Given the description of an element on the screen output the (x, y) to click on. 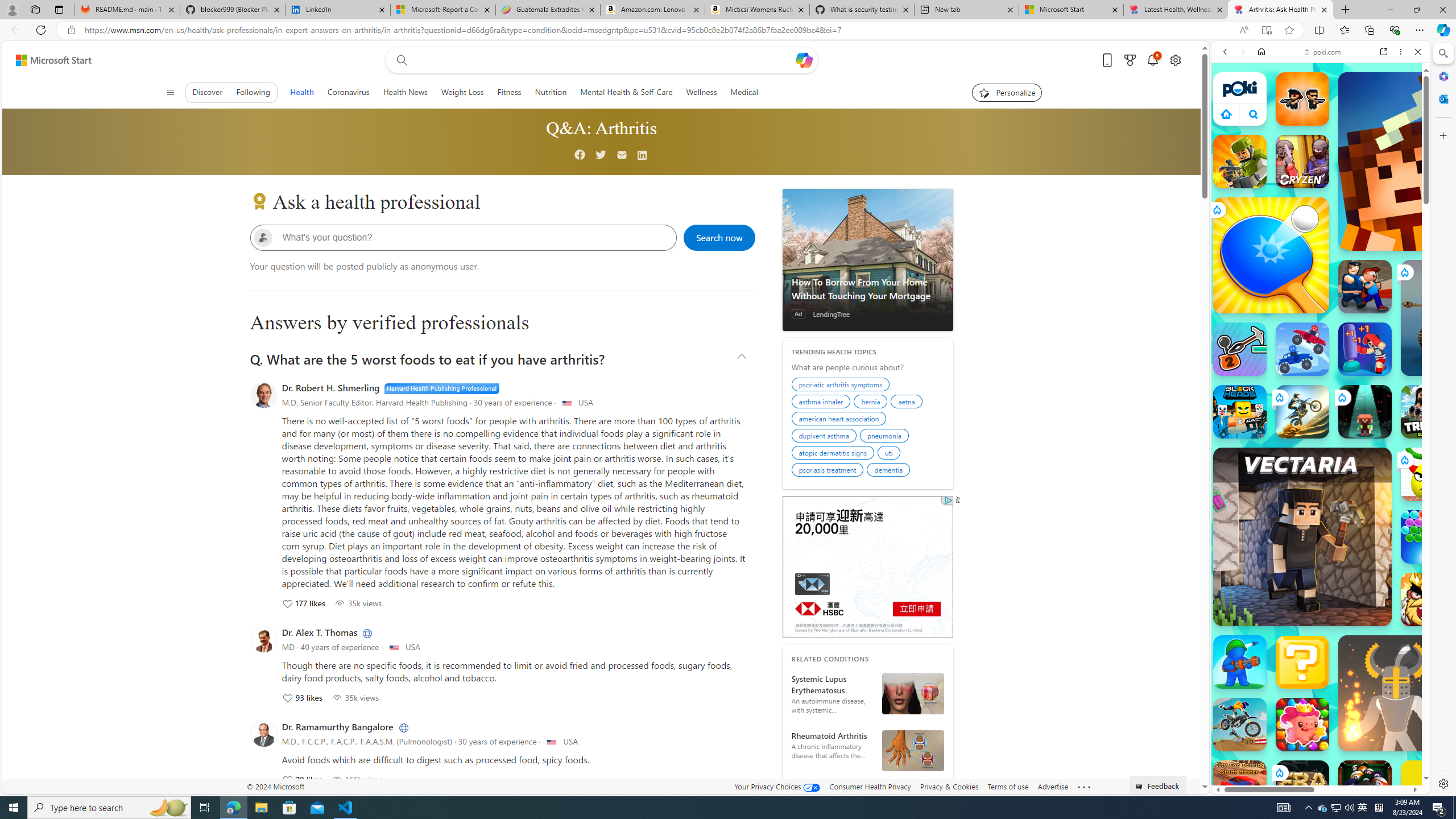
Health News (404, 92)
Hills of Steel Hills of Steel poki.com (1264, 548)
Io Games (1320, 350)
Mail (622, 155)
Shooting Games (1320, 295)
Wellness (700, 92)
Class: oneFooter_seeMore-DS-EntryPoint1-1 (1083, 786)
